Given the description of an element on the screen output the (x, y) to click on. 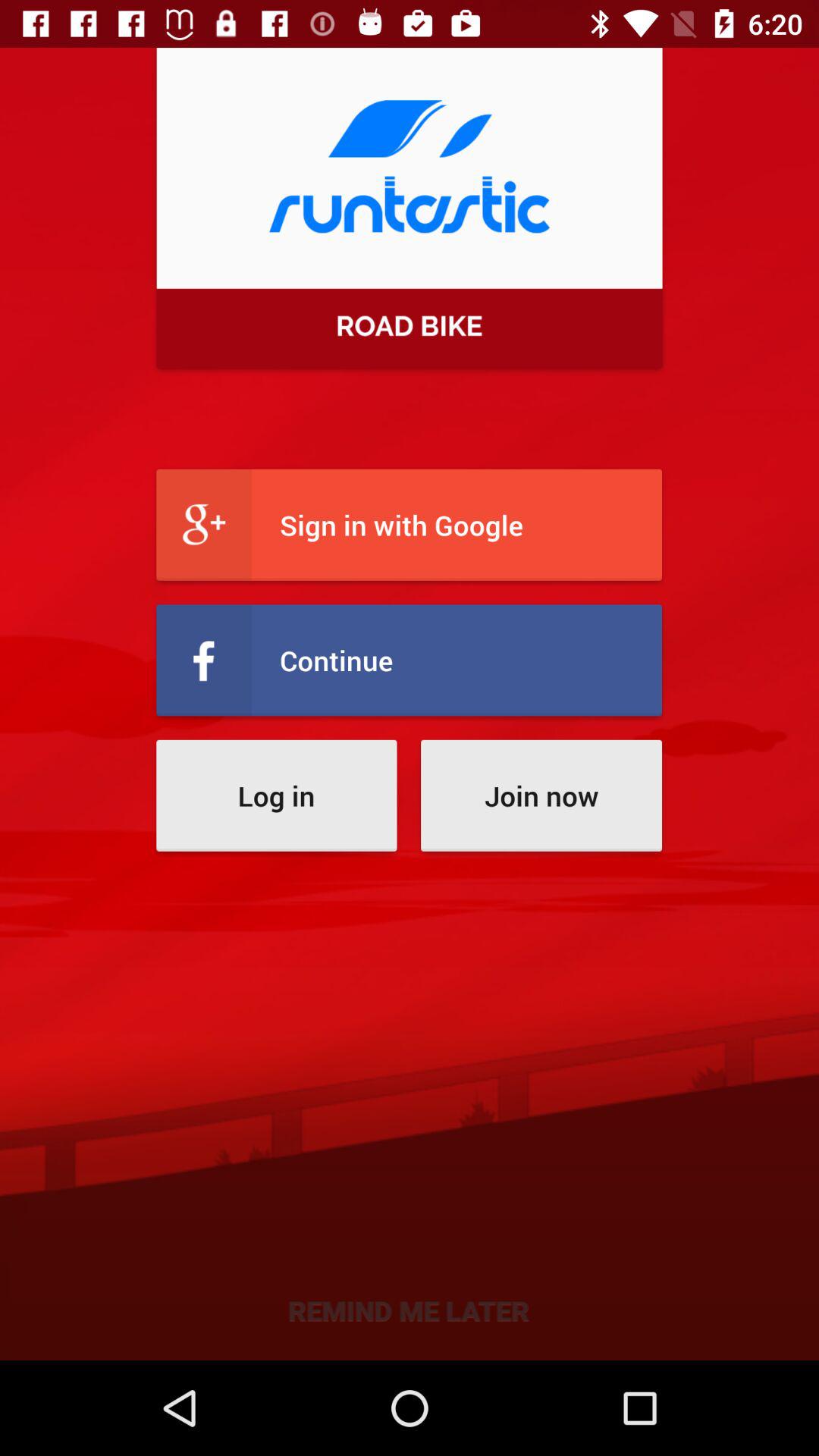
turn off the item below the continue (541, 795)
